Given the description of an element on the screen output the (x, y) to click on. 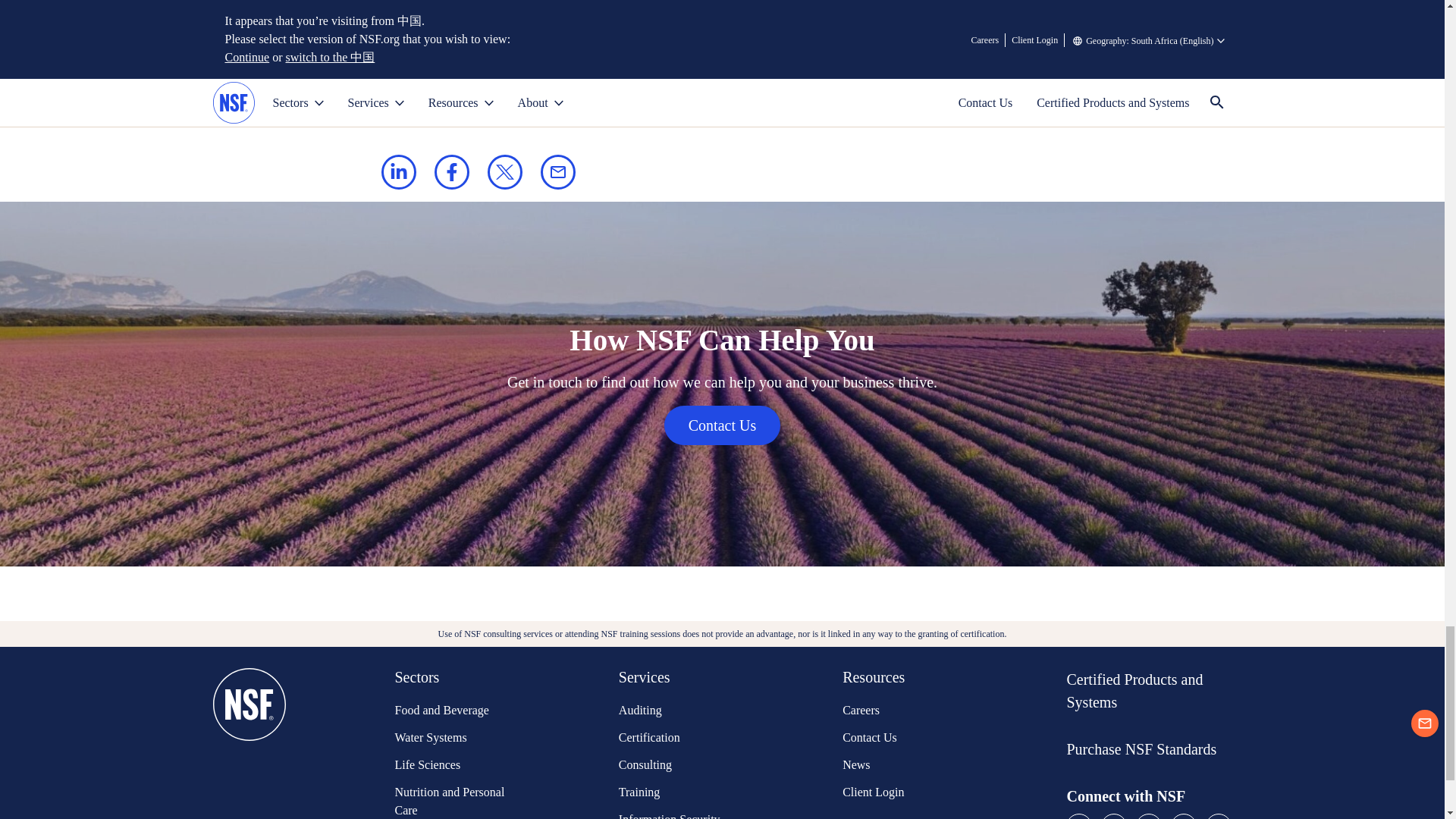
Certification (675, 737)
Share on Twitter (503, 171)
Share by Email (557, 171)
Life Sciences (451, 764)
Share on LinkedIn (397, 171)
Training (675, 791)
Water Systems (451, 737)
Share on Facebook (450, 171)
Food and Beverage (451, 710)
Contact Us (721, 425)
